Given the description of an element on the screen output the (x, y) to click on. 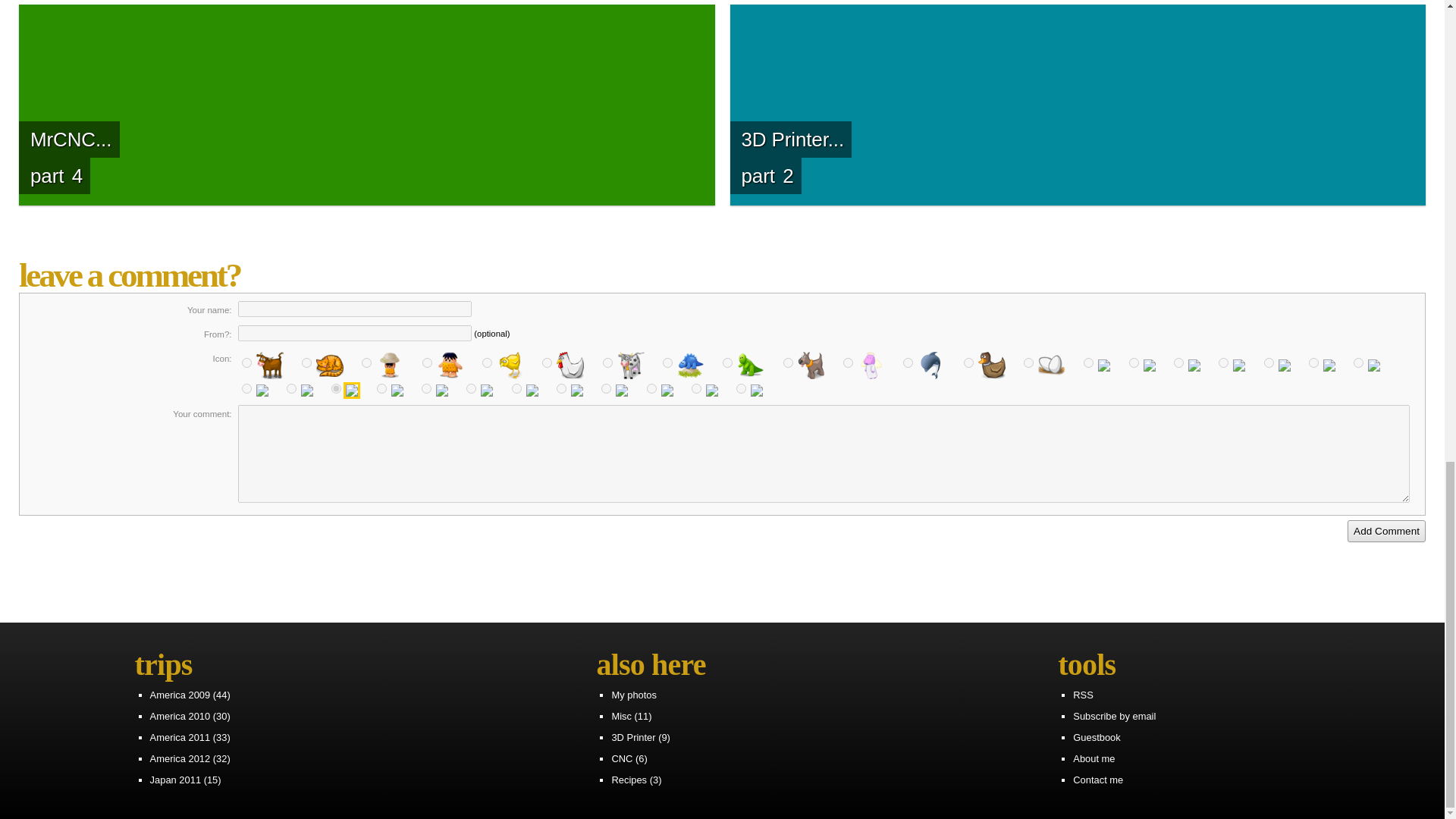
Eggs.png (1028, 362)
Recipes (628, 779)
Chick.png (486, 362)
DoggyAngel.png (848, 362)
Duck.png (968, 362)
Caveman.png (366, 362)
Subscribe by email (1114, 715)
America 2010 (180, 715)
America 2012 (180, 758)
RSS (1083, 695)
